Given the description of an element on the screen output the (x, y) to click on. 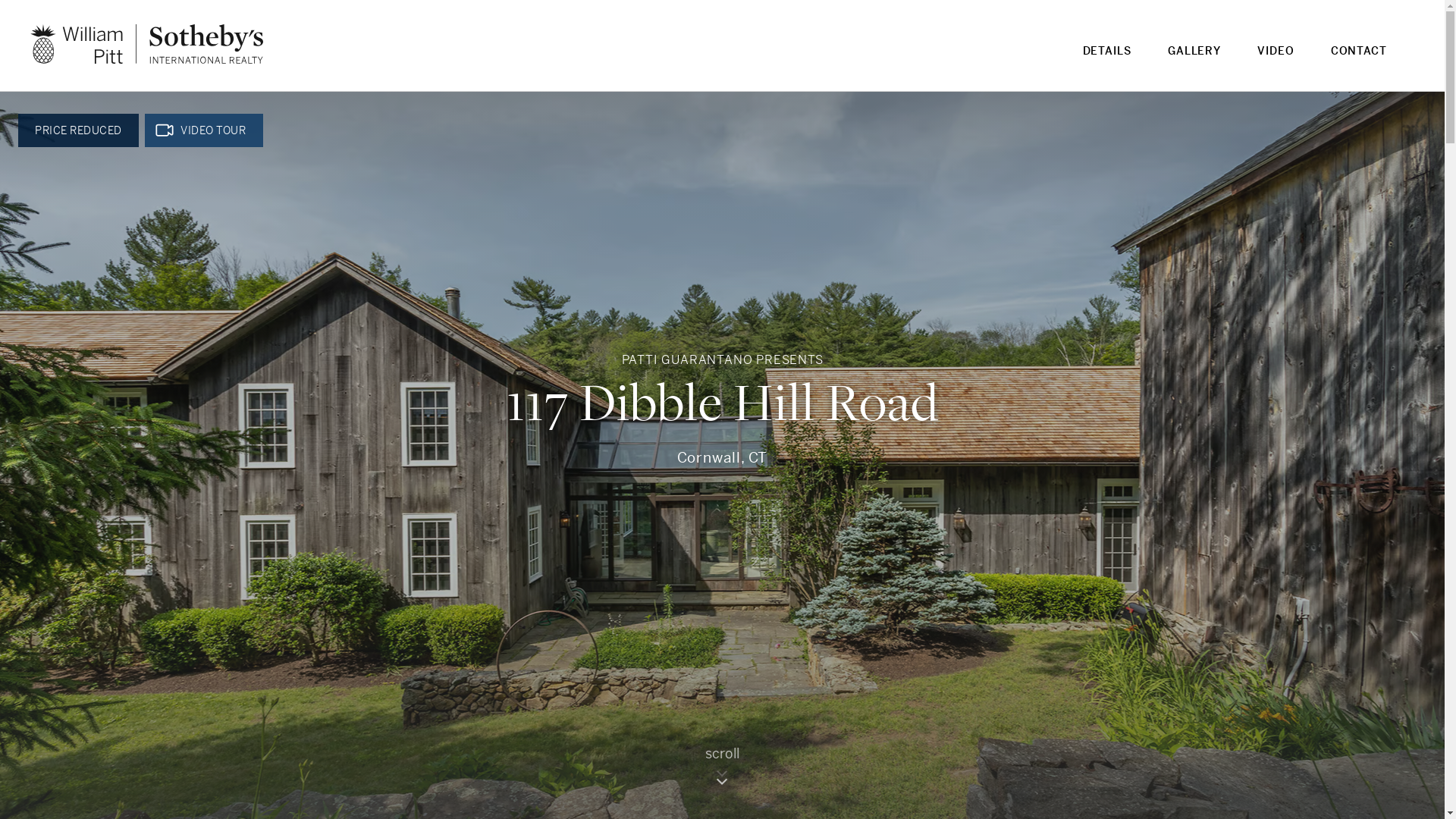
GALLERY Element type: text (1193, 60)
scroll Element type: text (722, 769)
DETAILS Element type: text (1106, 60)
CONTACT Element type: text (1358, 60)
William Pitt SIR Element type: hover (146, 43)
VIDEO TOUR Element type: text (203, 130)
VIDEO Element type: text (1275, 60)
